Given the description of an element on the screen output the (x, y) to click on. 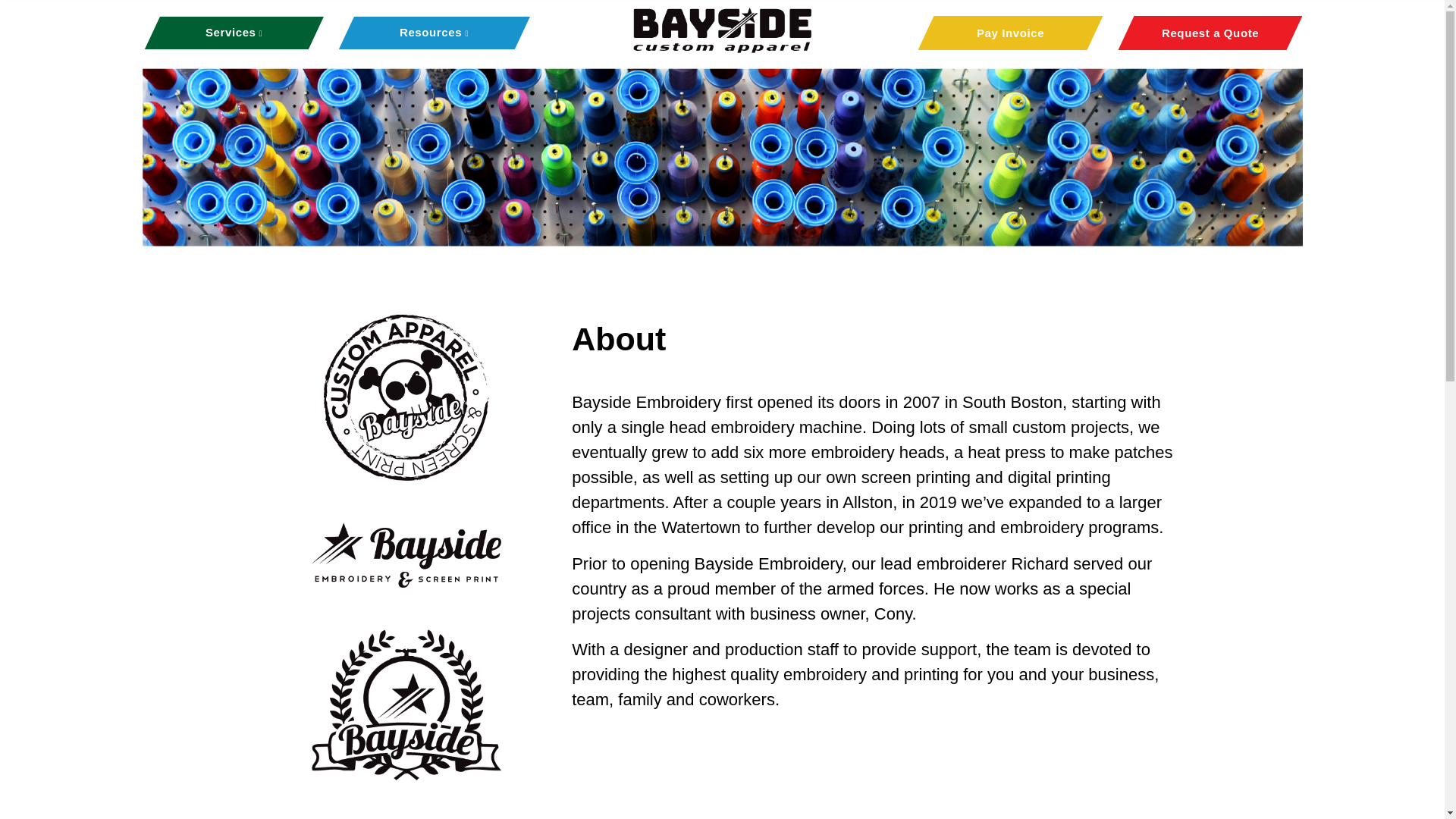
Pay Invoice (1001, 32)
Services (233, 32)
Resources (434, 32)
Request a Quote (1201, 32)
